Given the description of an element on the screen output the (x, y) to click on. 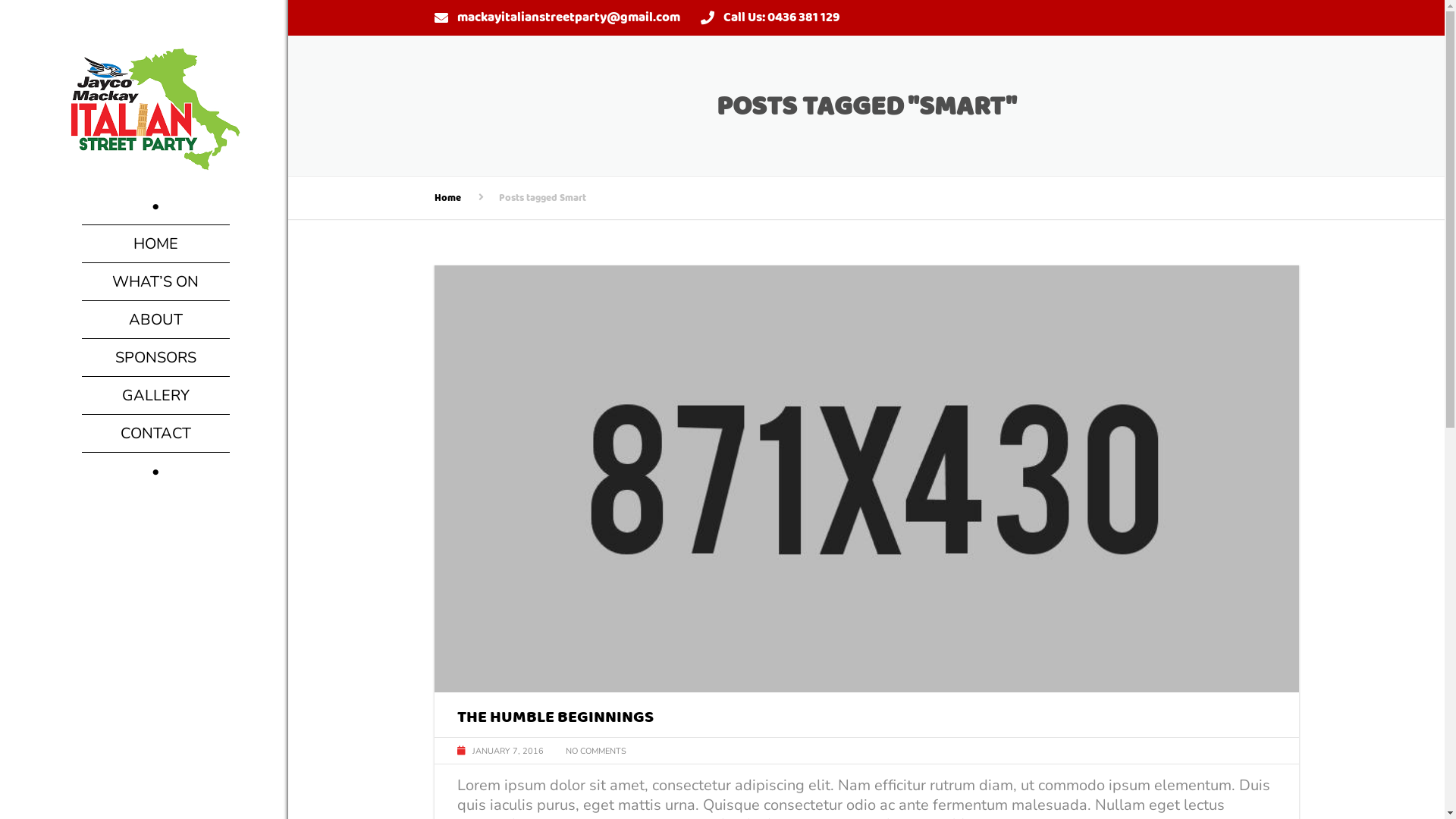
0436 381 129 Element type: text (803, 16)
CONTACT Element type: text (155, 432)
SPONSORS Element type: text (155, 357)
GALLERY Element type: text (155, 395)
ABOUT Element type: text (155, 319)
Home Element type: text (446, 197)
HOME Element type: text (155, 243)
mackayitalianstreetparty@gmail.com Element type: text (567, 16)
